Given the description of an element on the screen output the (x, y) to click on. 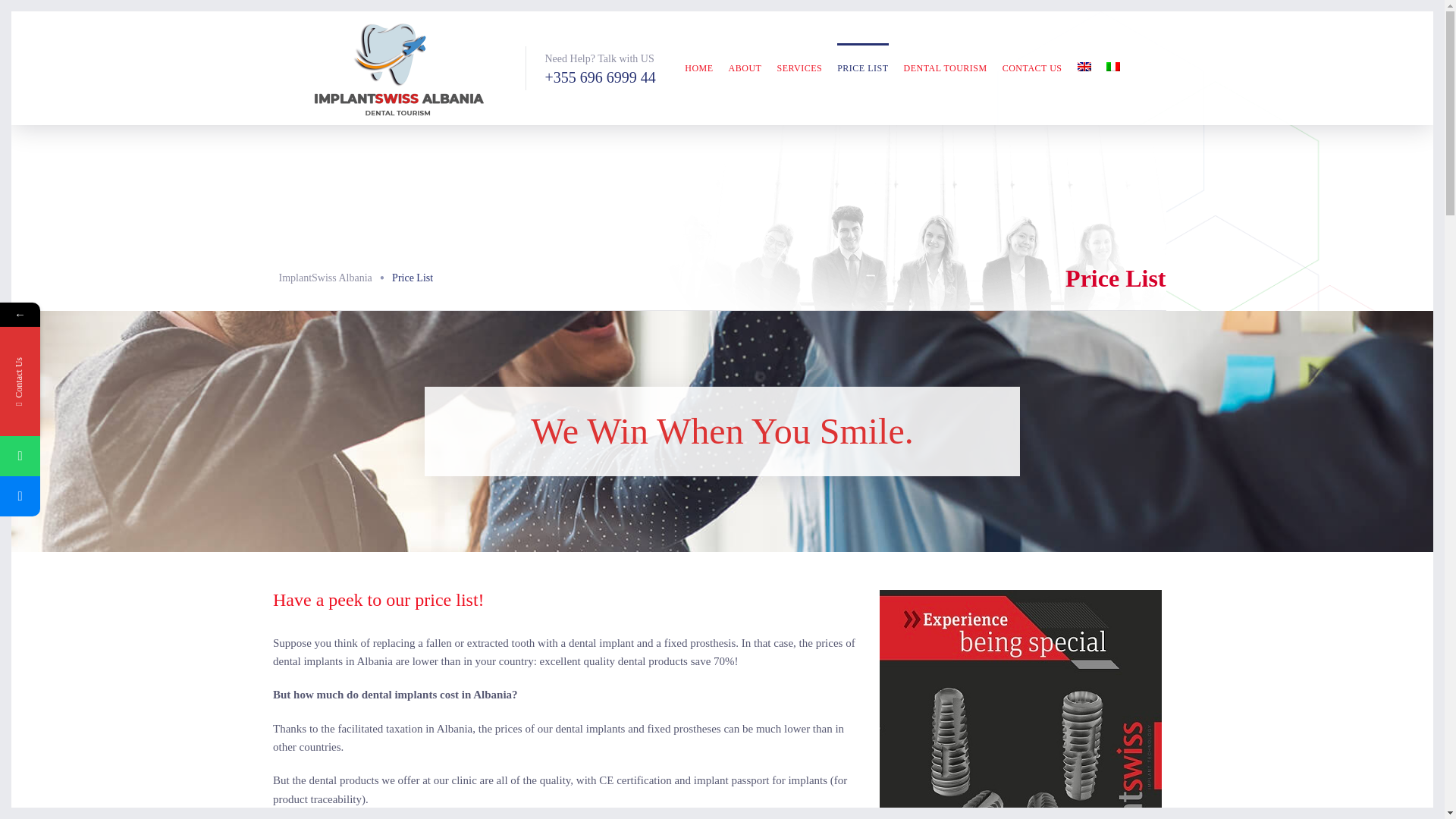
Go to ImplantSwiss Albania. (325, 278)
PRICE LIST (862, 68)
Search (1362, 90)
WhatsApp (92, 455)
WhatsApp (20, 455)
Facebook Messenger (20, 495)
ImplantSwiss Albania (325, 278)
Search (1362, 90)
DENTAL TOURISM (945, 68)
impinanti-dentali-in-tirana-albania (1020, 704)
CONTACT US (1032, 68)
Facebook Messenger (94, 495)
SERVICES (799, 68)
